Given the description of an element on the screen output the (x, y) to click on. 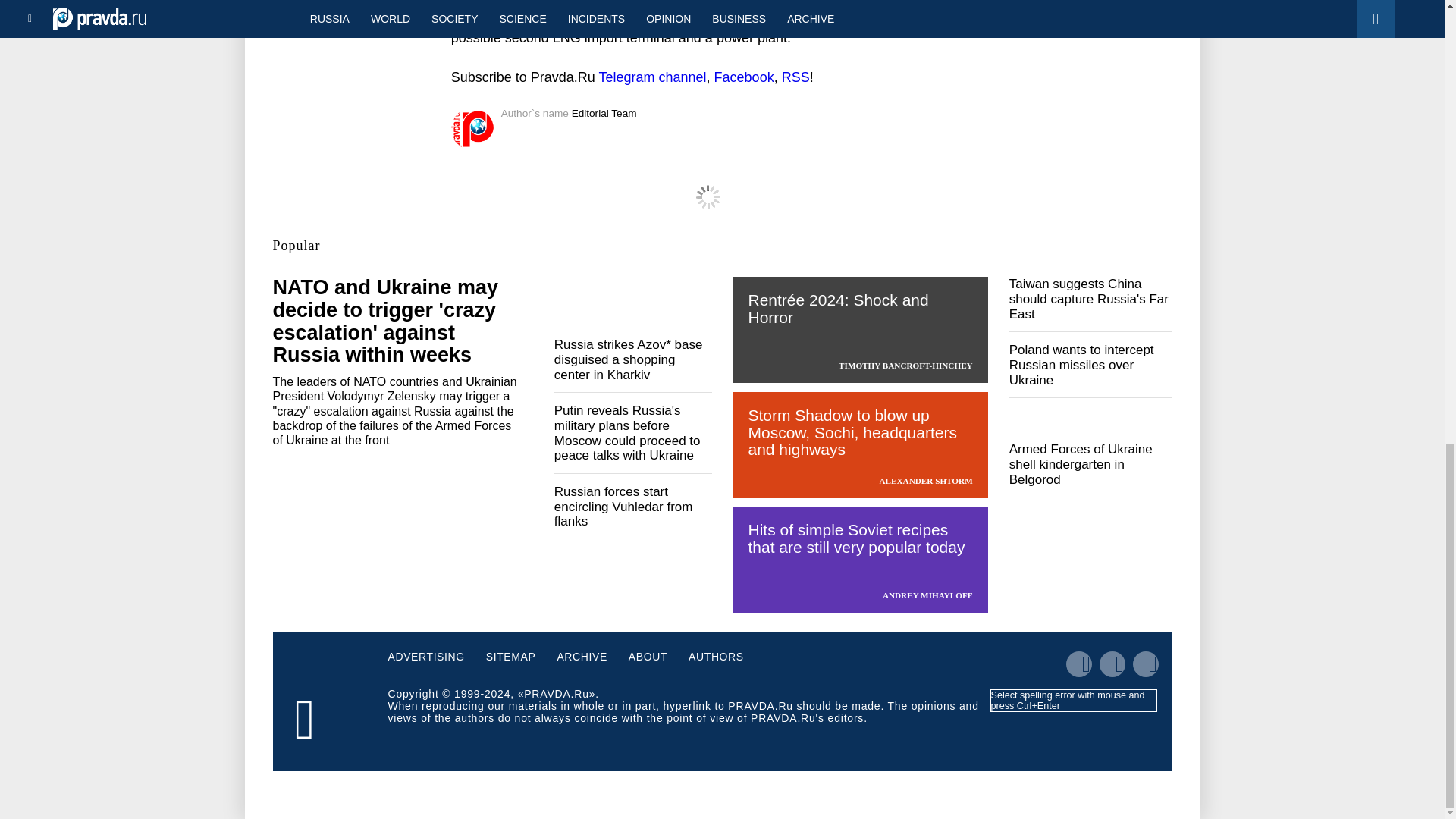
Facebook (744, 77)
Editorial Team (604, 112)
RSS (795, 77)
Telegram channel (652, 77)
